Given the description of an element on the screen output the (x, y) to click on. 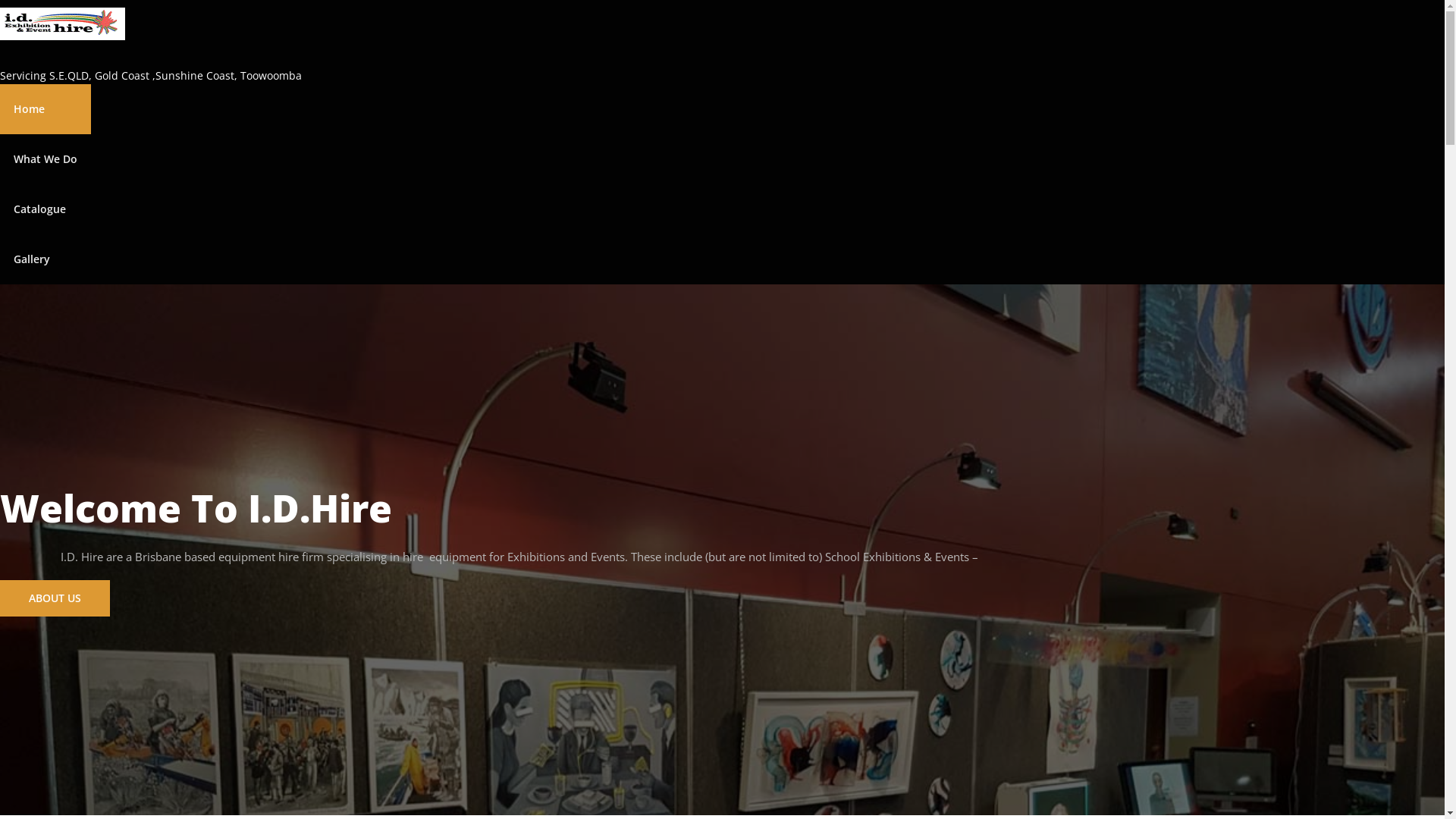
Catalogue Element type: text (45, 209)
ABOUT US Element type: text (54, 597)
Home Element type: text (45, 109)
Gallery Element type: text (45, 259)
What We Do Element type: text (45, 159)
Welcome To I.D.Hire Element type: text (196, 507)
